Given the description of an element on the screen output the (x, y) to click on. 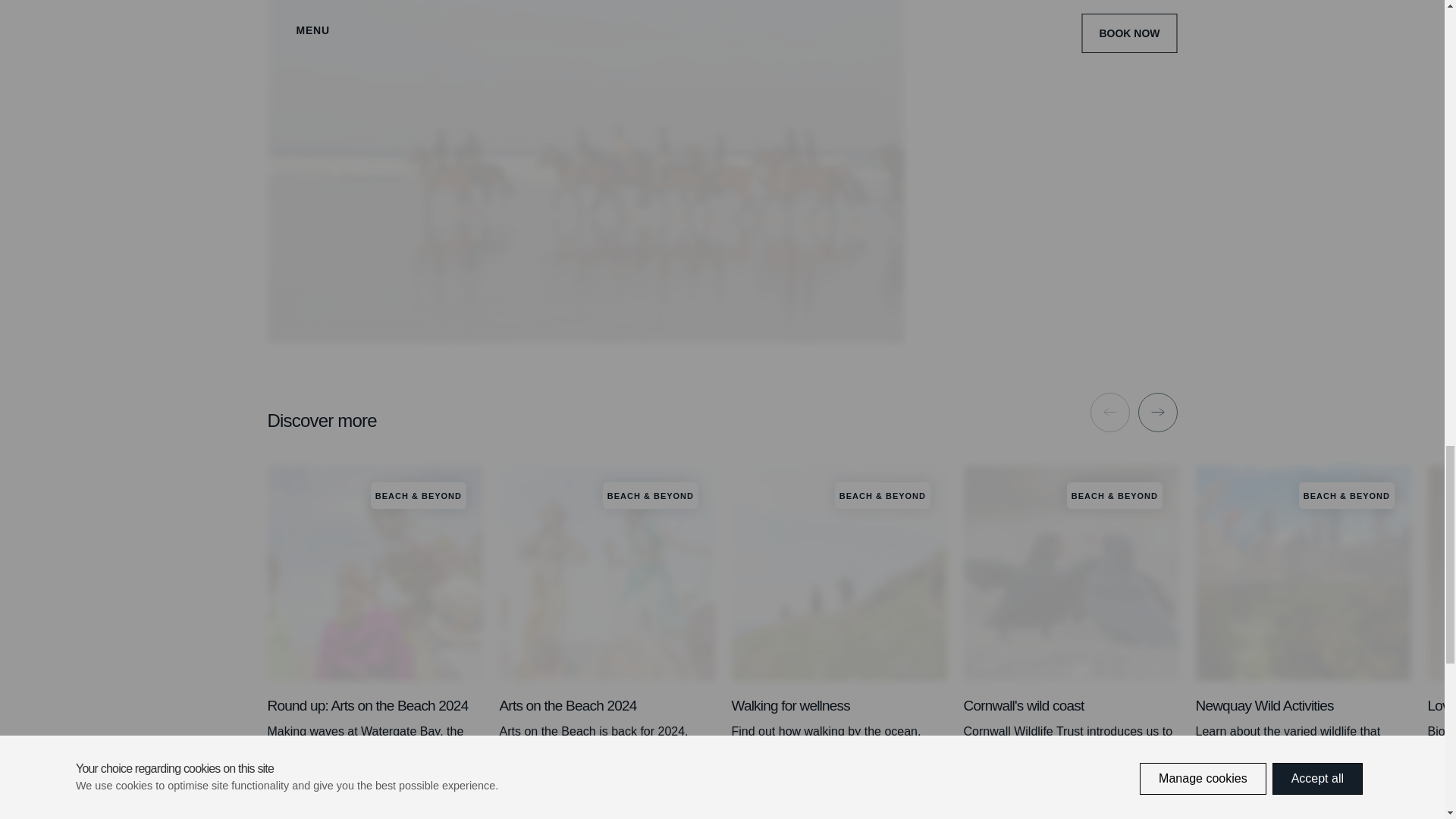
Cornwall's wild coast (1069, 804)
Newquay Wild Activities (1302, 804)
Arts on the Beach 2024 (606, 804)
Round up: Arts on the Beach 2024 (373, 804)
Walking for wellness (838, 786)
Love of life: Marianna Popejoy (1441, 804)
